Given the description of an element on the screen output the (x, y) to click on. 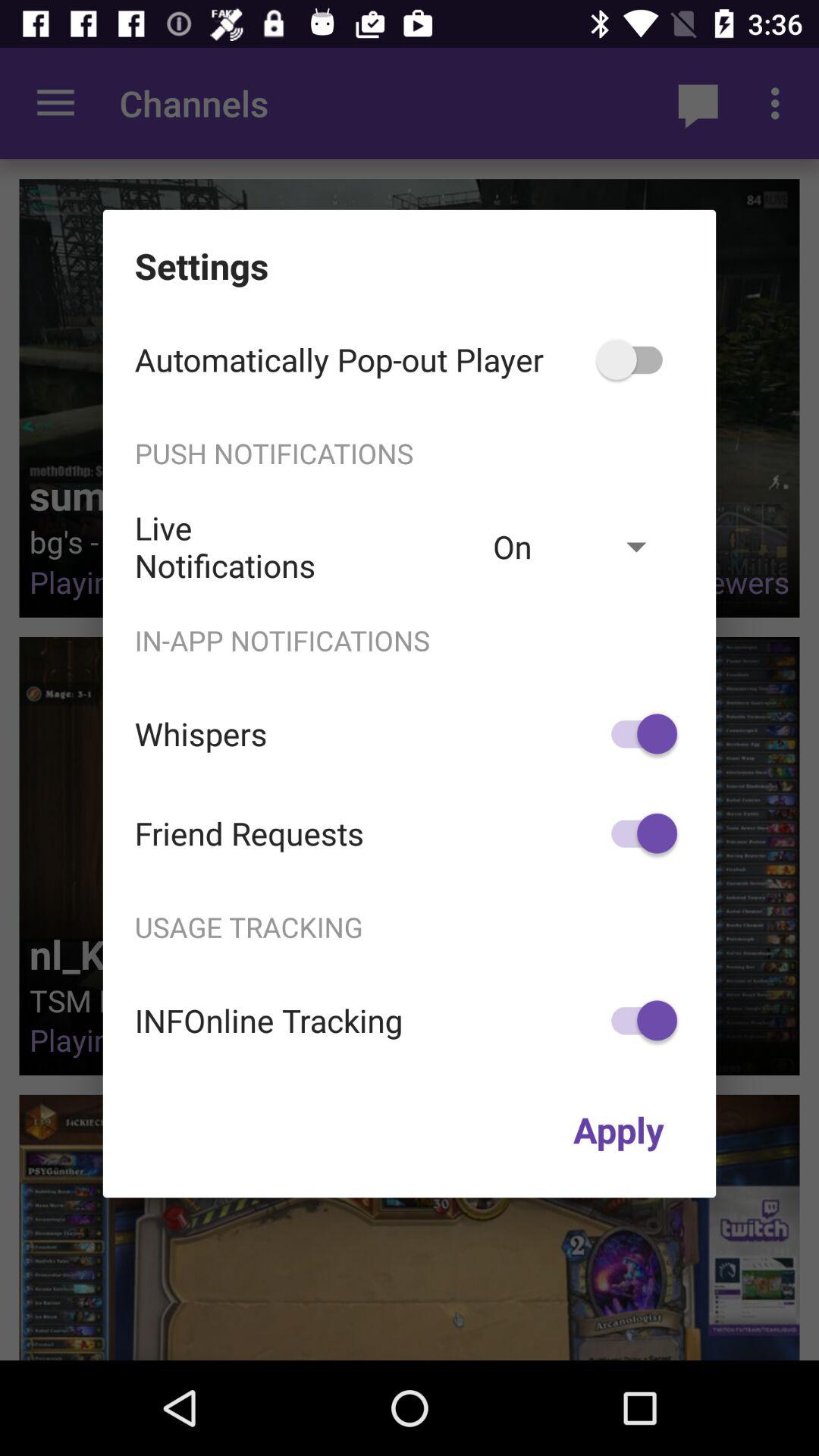
turn on icon at the top right corner (636, 359)
